Given the description of an element on the screen output the (x, y) to click on. 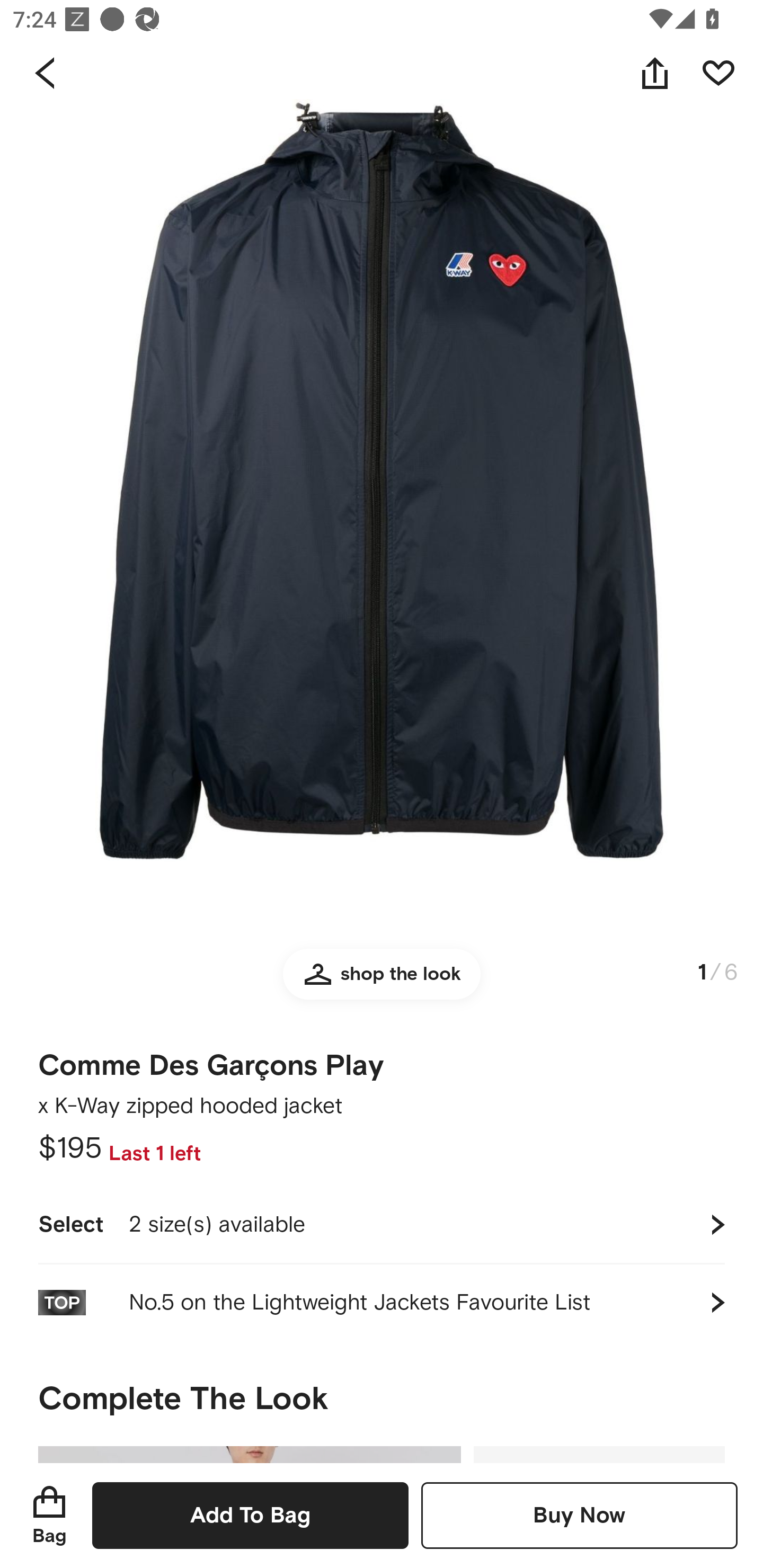
shop the look (381, 982)
Comme Des Garçons Play (210, 1065)
Select 2 size(s) available (381, 1224)
No.5 on the Lightweight Jackets Favourite List (381, 1301)
Bag (49, 1515)
Add To Bag (250, 1515)
Buy Now (579, 1515)
